Given the description of an element on the screen output the (x, y) to click on. 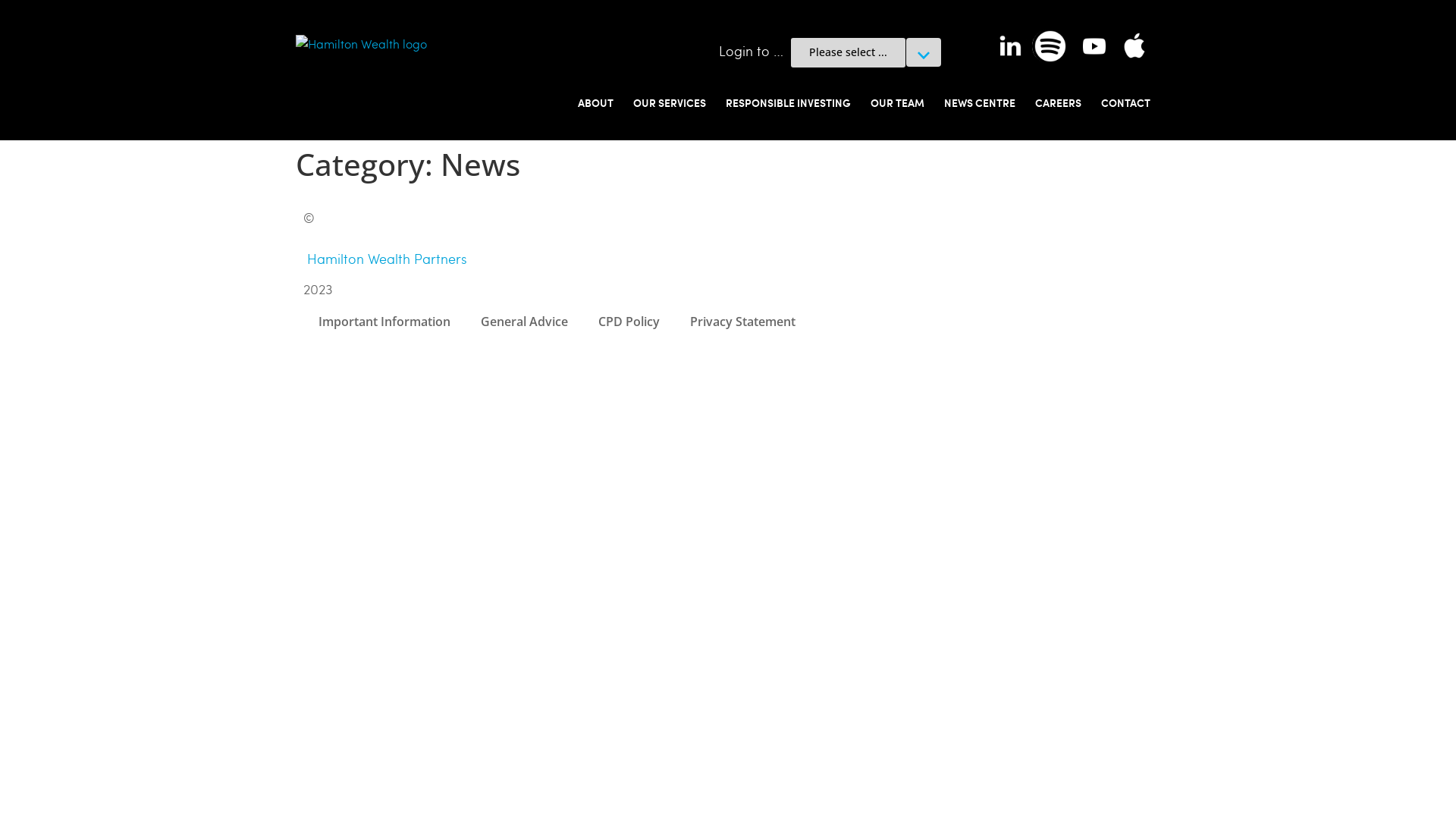
CONTACT Element type: text (1125, 101)
RESPONSIBLE INVESTING Element type: text (787, 101)
Apple Podcasts Element type: hover (1134, 46)
General Advice Element type: text (524, 321)
Privacy Statement Element type: text (742, 321)
blue-down-arrow Element type: hover (923, 55)
CAREERS Element type: text (1058, 101)
NEWS CENTRE Element type: text (979, 101)
Youtube Element type: hover (1094, 46)
Spotify Element type: hover (1050, 46)
Hamilton Wealth Partners Element type: text (387, 258)
OUR TEAM Element type: text (897, 101)
Important Information Element type: text (384, 321)
Please select ... Element type: text (847, 51)
OUR SERVICES Element type: text (669, 101)
LinkedIn Element type: hover (1009, 46)
ABOUT Element type: text (595, 101)
CPD Policy Element type: text (628, 321)
